Given the description of an element on the screen output the (x, y) to click on. 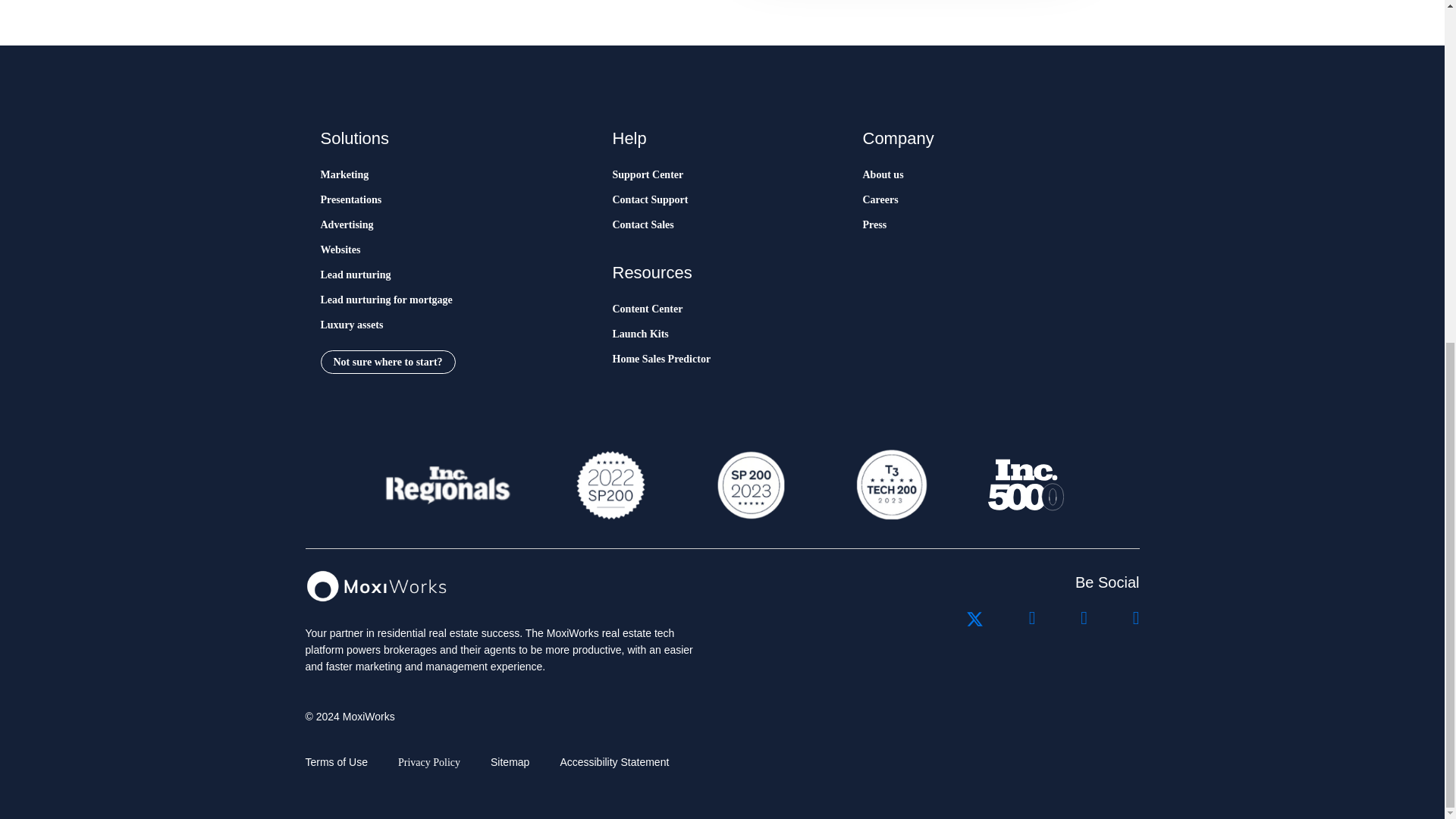
SP 2022 (610, 484)
SP 2023 (749, 484)
T3 tech 200 2023 (890, 484)
